Given the description of an element on the screen output the (x, y) to click on. 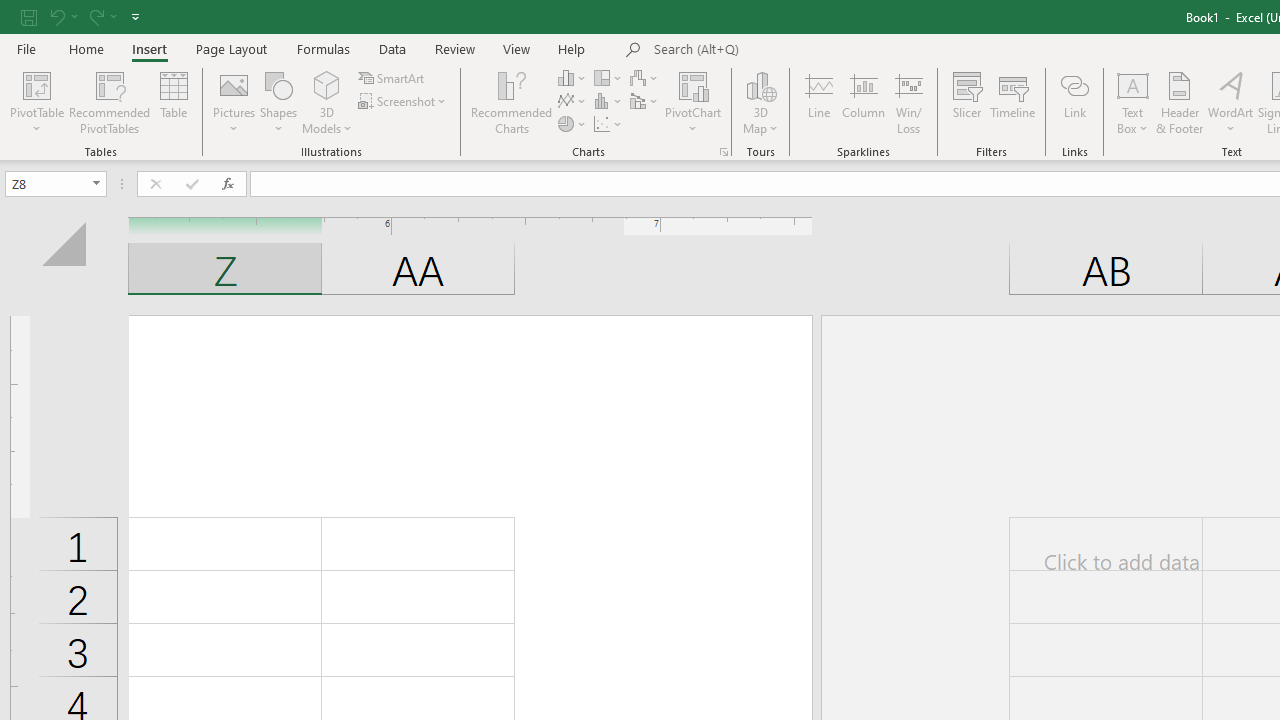
Insert Column or Bar Chart (573, 78)
3D Map (760, 84)
Insert Scatter (X, Y) or Bubble Chart (609, 124)
3D Map (760, 102)
Line (818, 102)
Screenshot (403, 101)
PivotTable (36, 102)
